Given the description of an element on the screen output the (x, y) to click on. 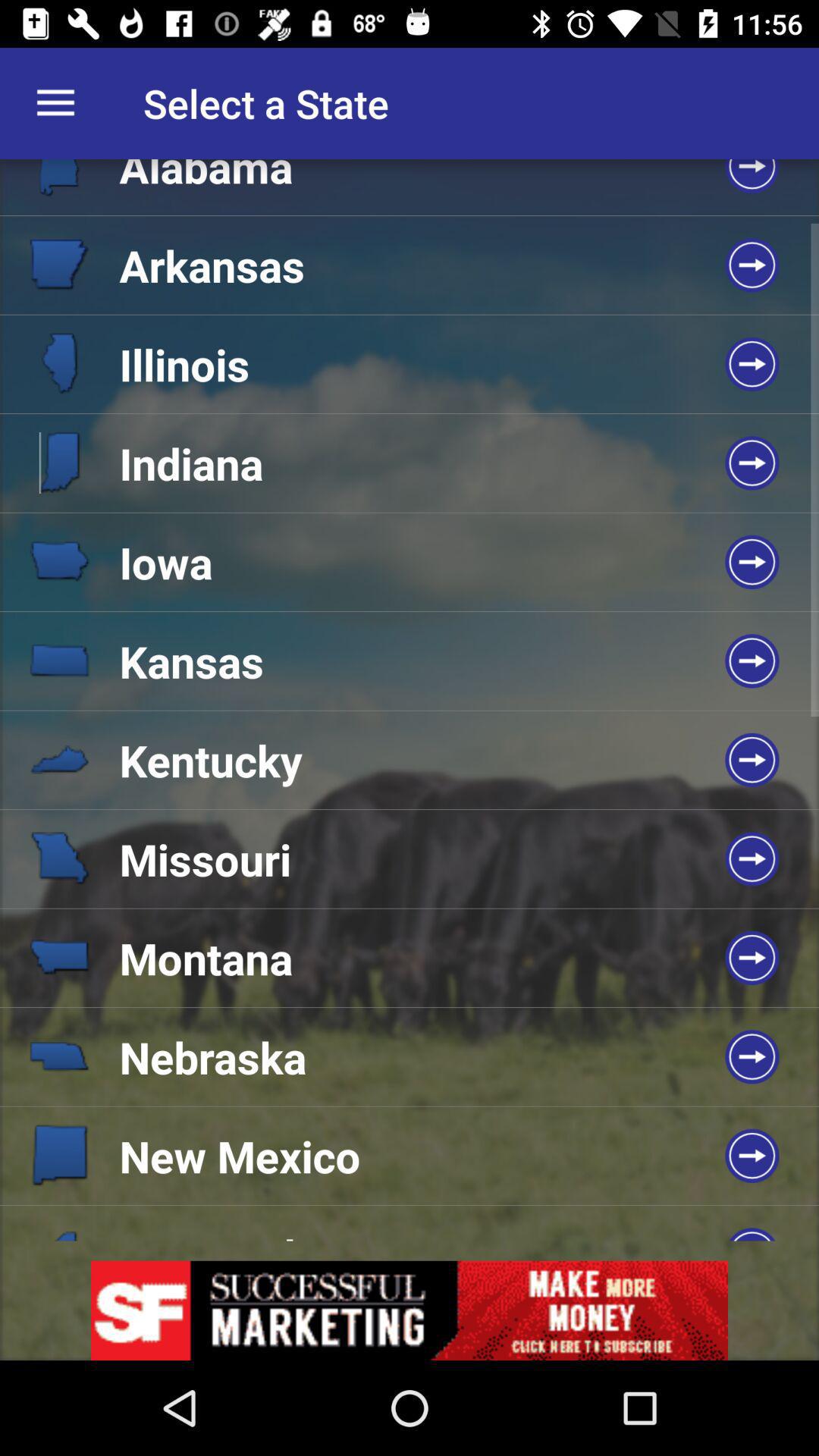
advertisement page (409, 1310)
